Given the description of an element on the screen output the (x, y) to click on. 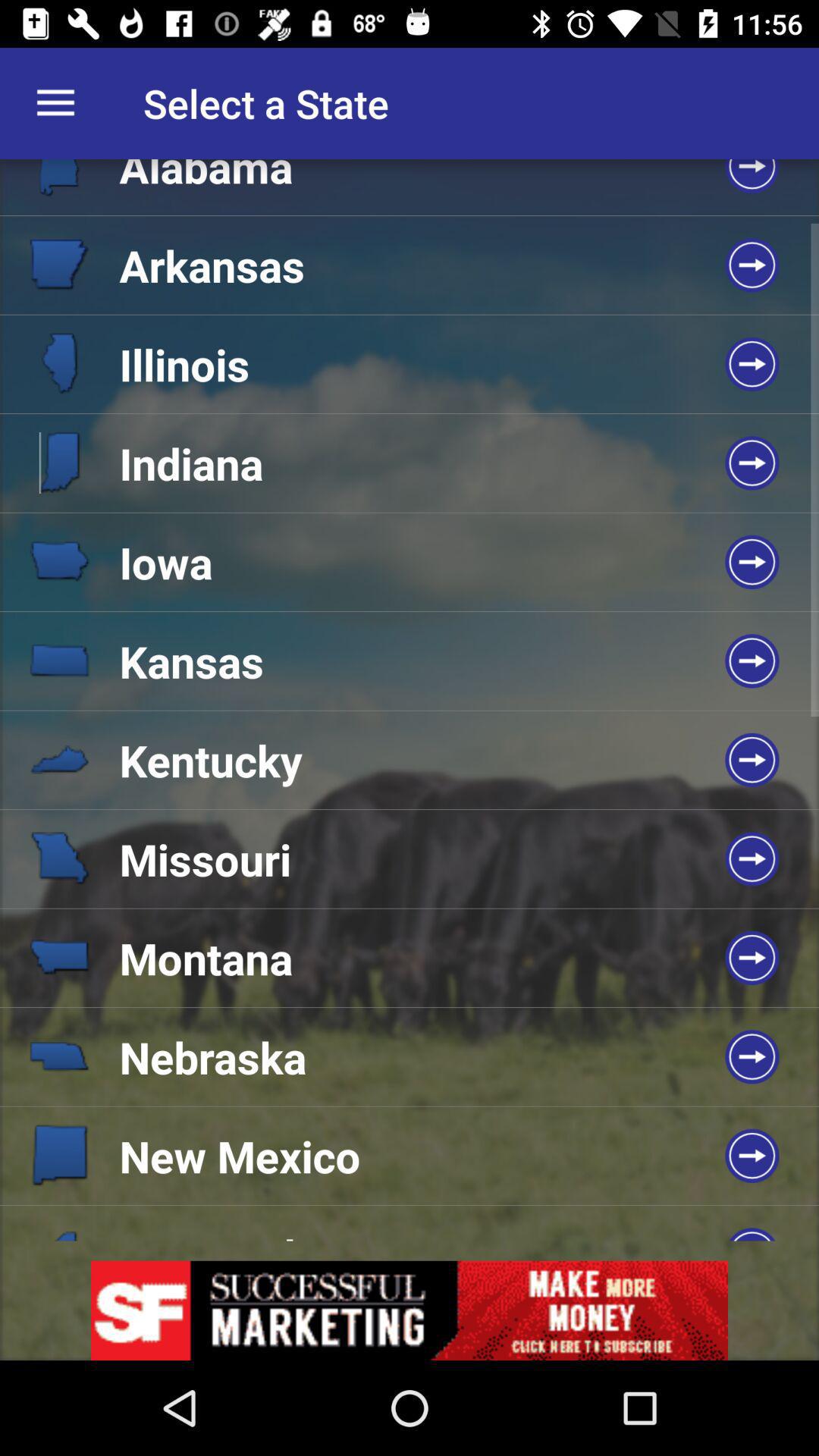
advertisement page (409, 1310)
